Given the description of an element on the screen output the (x, y) to click on. 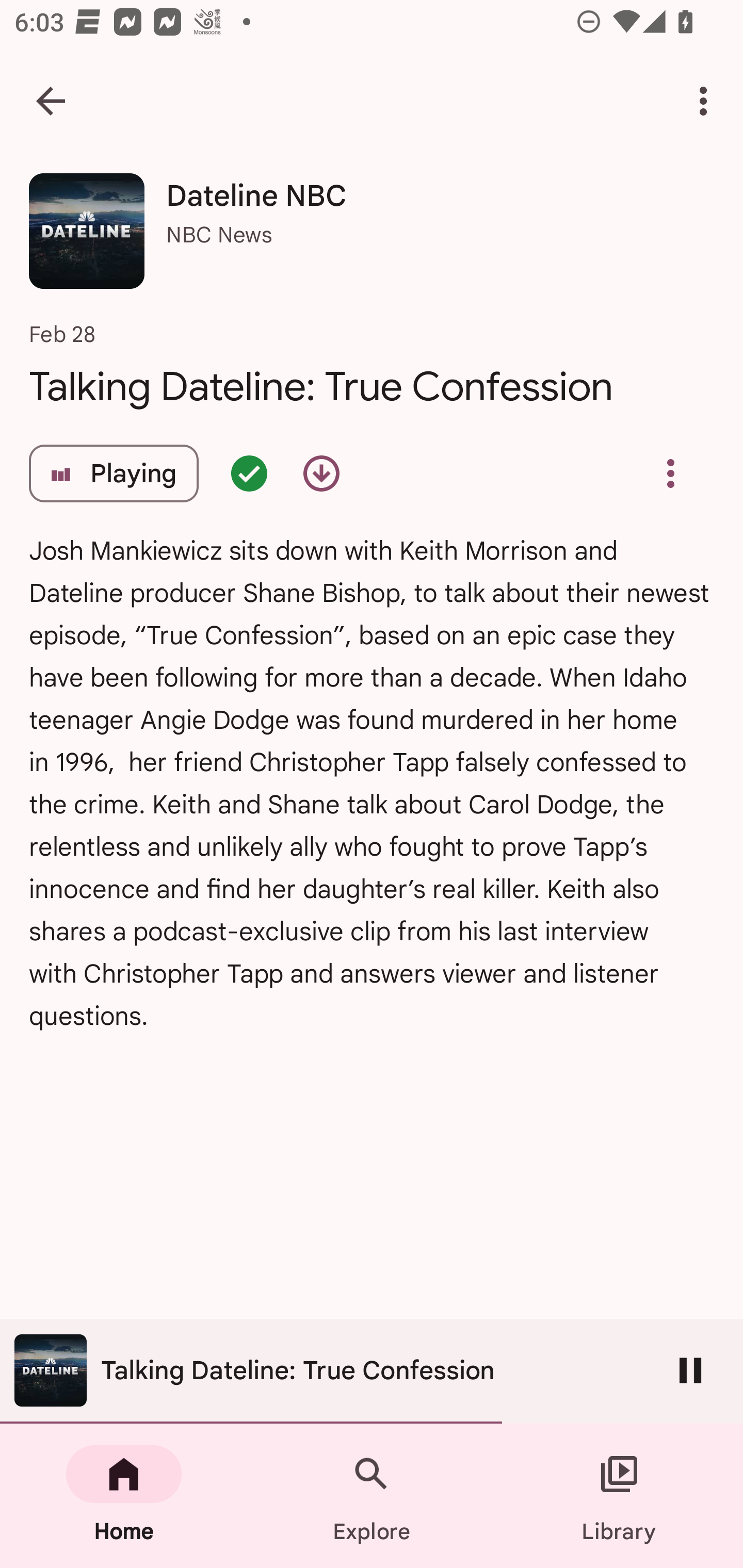
Navigate up (50, 101)
More options (706, 101)
Dateline NBC Dateline NBC NBC News (371, 238)
Episode queued - double tap for options (249, 473)
Download episode (321, 473)
Overflow menu (670, 473)
Pause (690, 1370)
Explore (371, 1495)
Library (619, 1495)
